Given the description of an element on the screen output the (x, y) to click on. 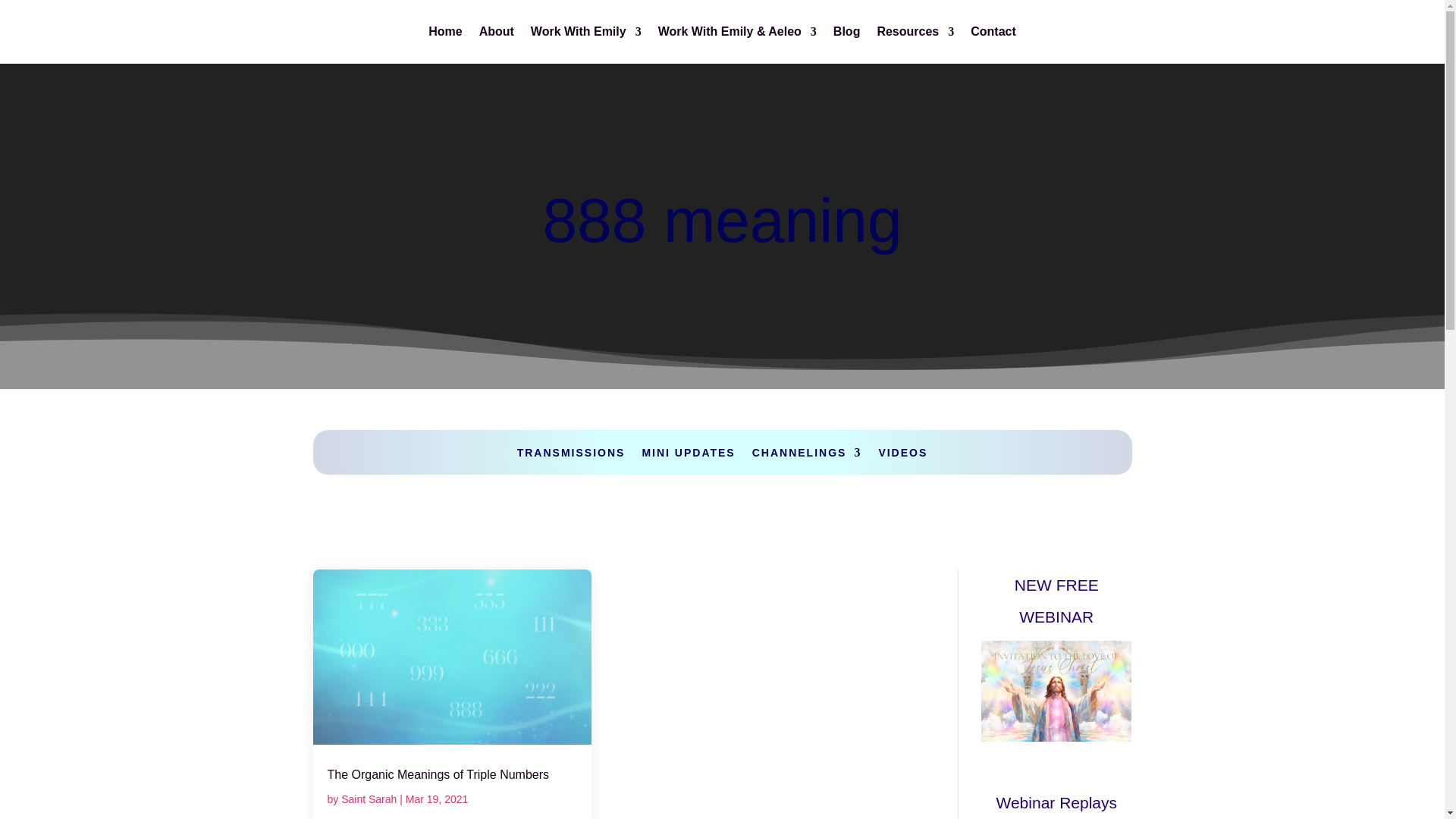
About (496, 34)
Work With Emily (586, 34)
Posts by Saint Sarah (368, 799)
Blog (846, 34)
Contact (993, 34)
Resources (914, 34)
Home (444, 34)
